Given the description of an element on the screen output the (x, y) to click on. 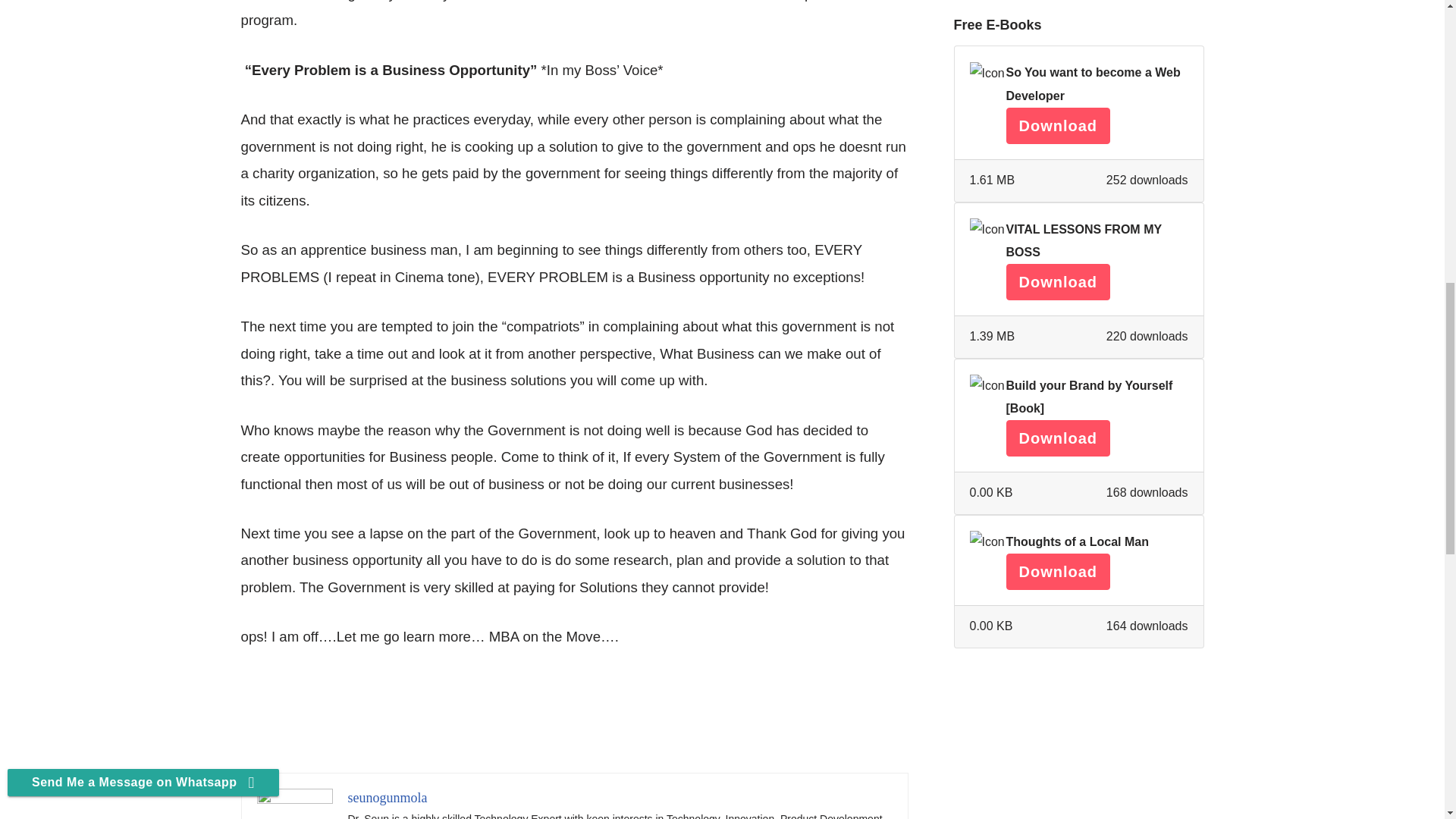
Download (1057, 571)
seunogunmola (386, 797)
Download (1057, 281)
Download (1057, 125)
Download (1057, 438)
